Given the description of an element on the screen output the (x, y) to click on. 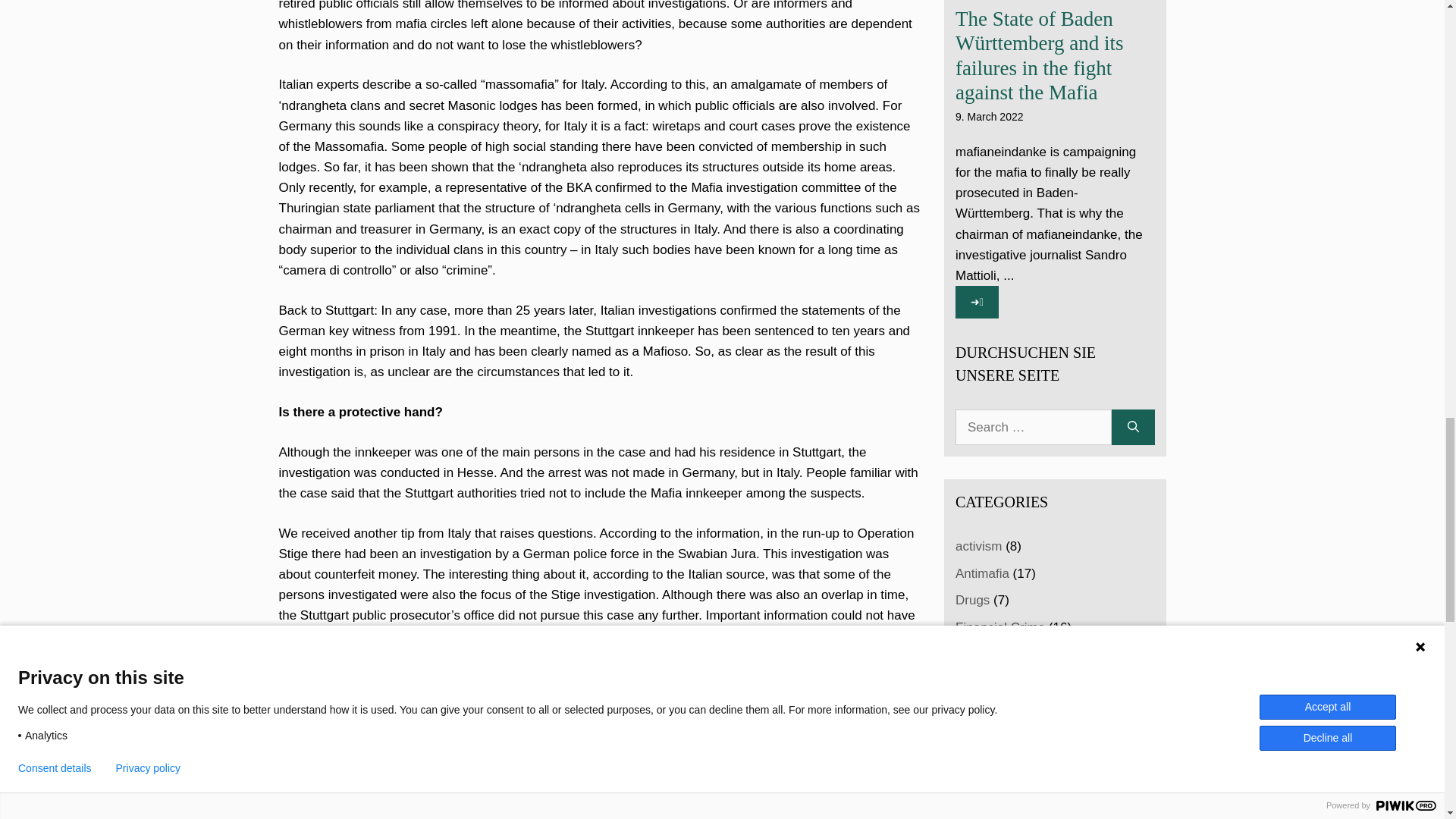
Search for: (1033, 427)
